Given the description of an element on the screen output the (x, y) to click on. 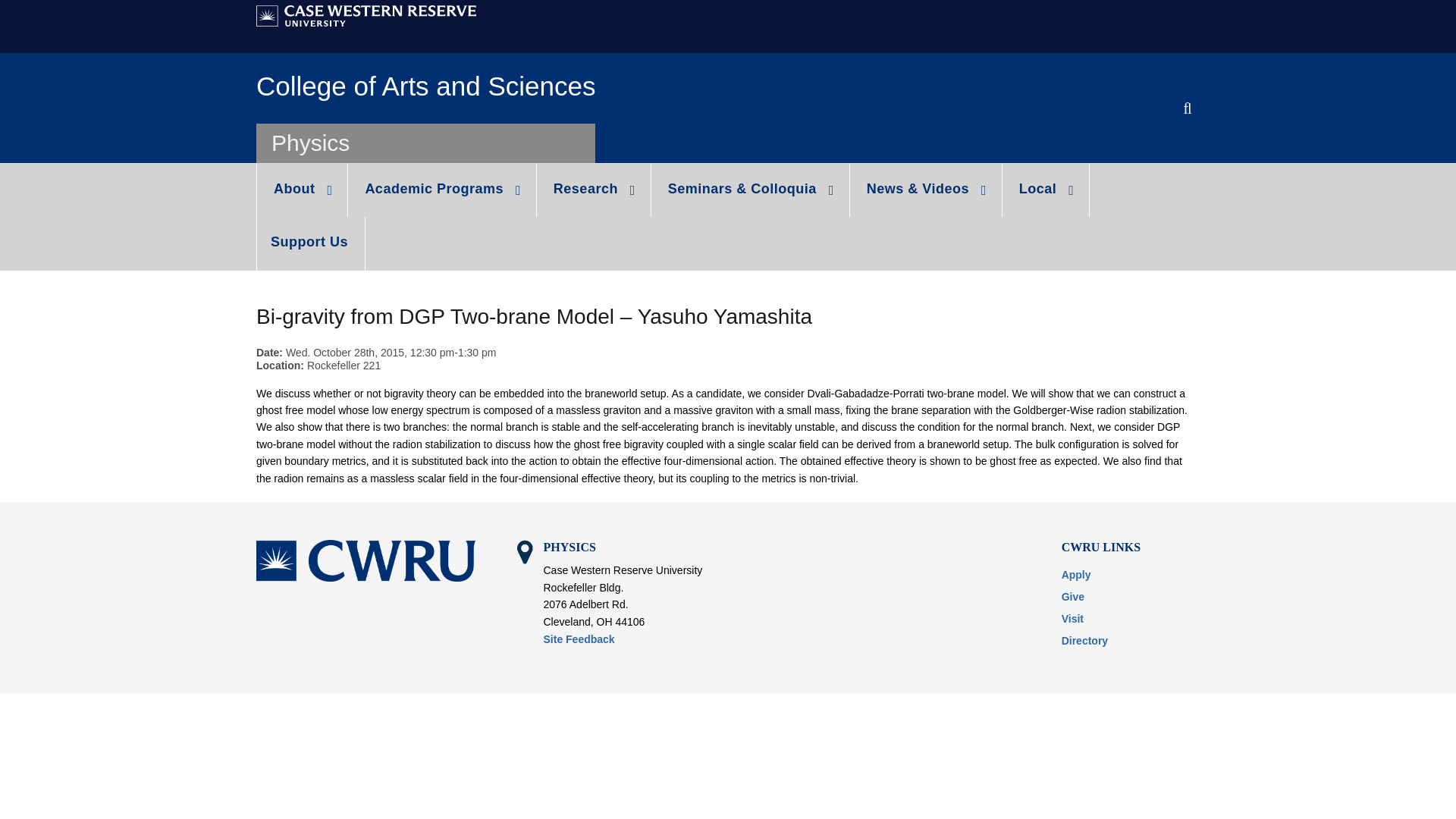
Physics (309, 142)
College of Arts and Sciences (425, 85)
